Given the description of an element on the screen output the (x, y) to click on. 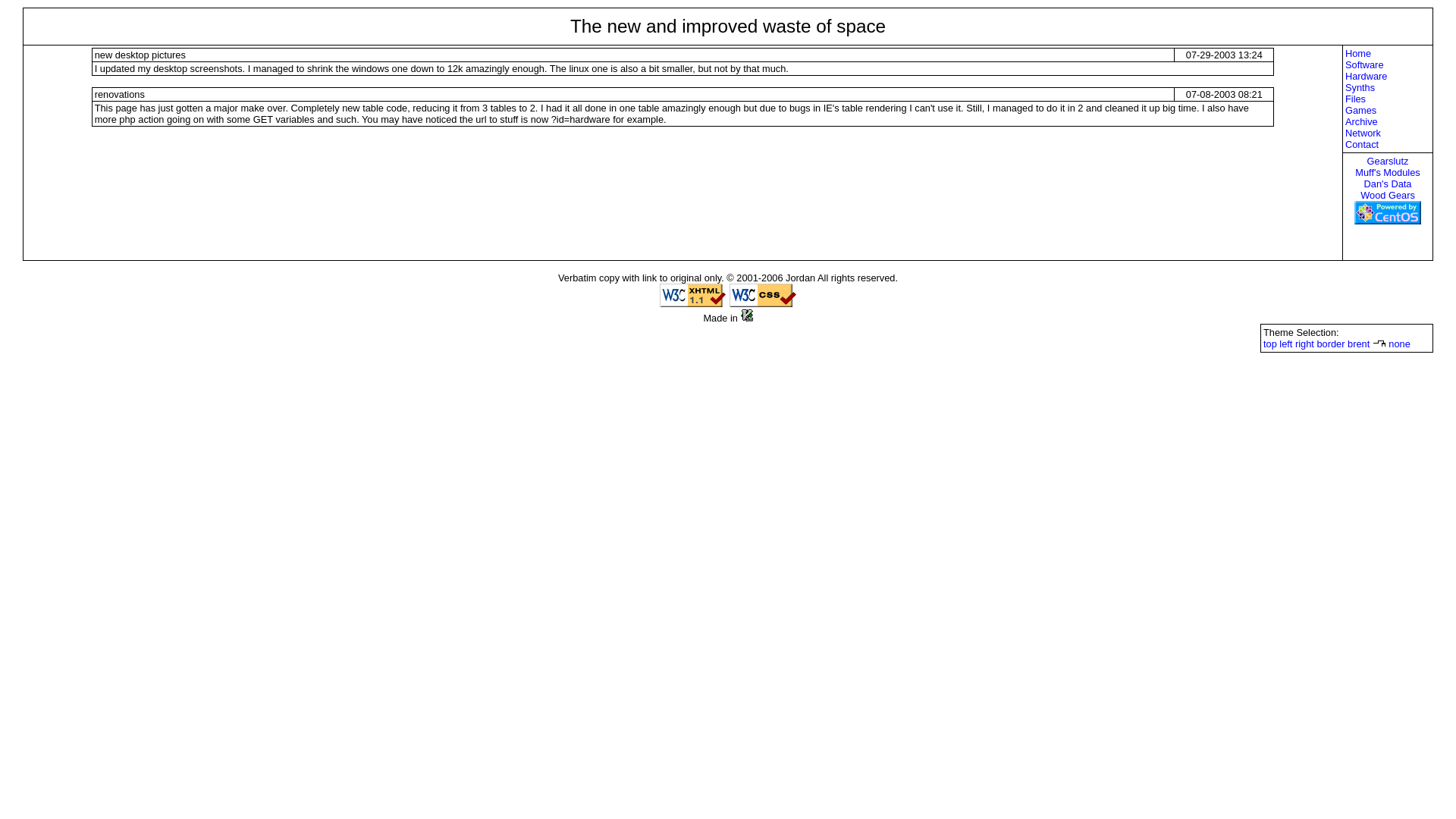
Archive Element type: text (1387, 121)
left Element type: text (1285, 343)
Hardware Element type: text (1387, 75)
Synths Element type: text (1387, 87)
top Element type: text (1270, 343)
Wood Gears Element type: text (1387, 194)
Dan's Data Element type: text (1387, 183)
Network Element type: text (1387, 132)
none Element type: text (1398, 343)
Home Element type: text (1387, 53)
Contact Element type: text (1387, 144)
Software Element type: text (1387, 64)
right Element type: text (1304, 343)
Games Element type: text (1387, 110)
border Element type: text (1330, 343)
Files Element type: text (1387, 98)
Muff's Modules Element type: text (1387, 172)
brent Element type: text (1358, 343)
Gearslutz Element type: text (1387, 160)
